Given the description of an element on the screen output the (x, y) to click on. 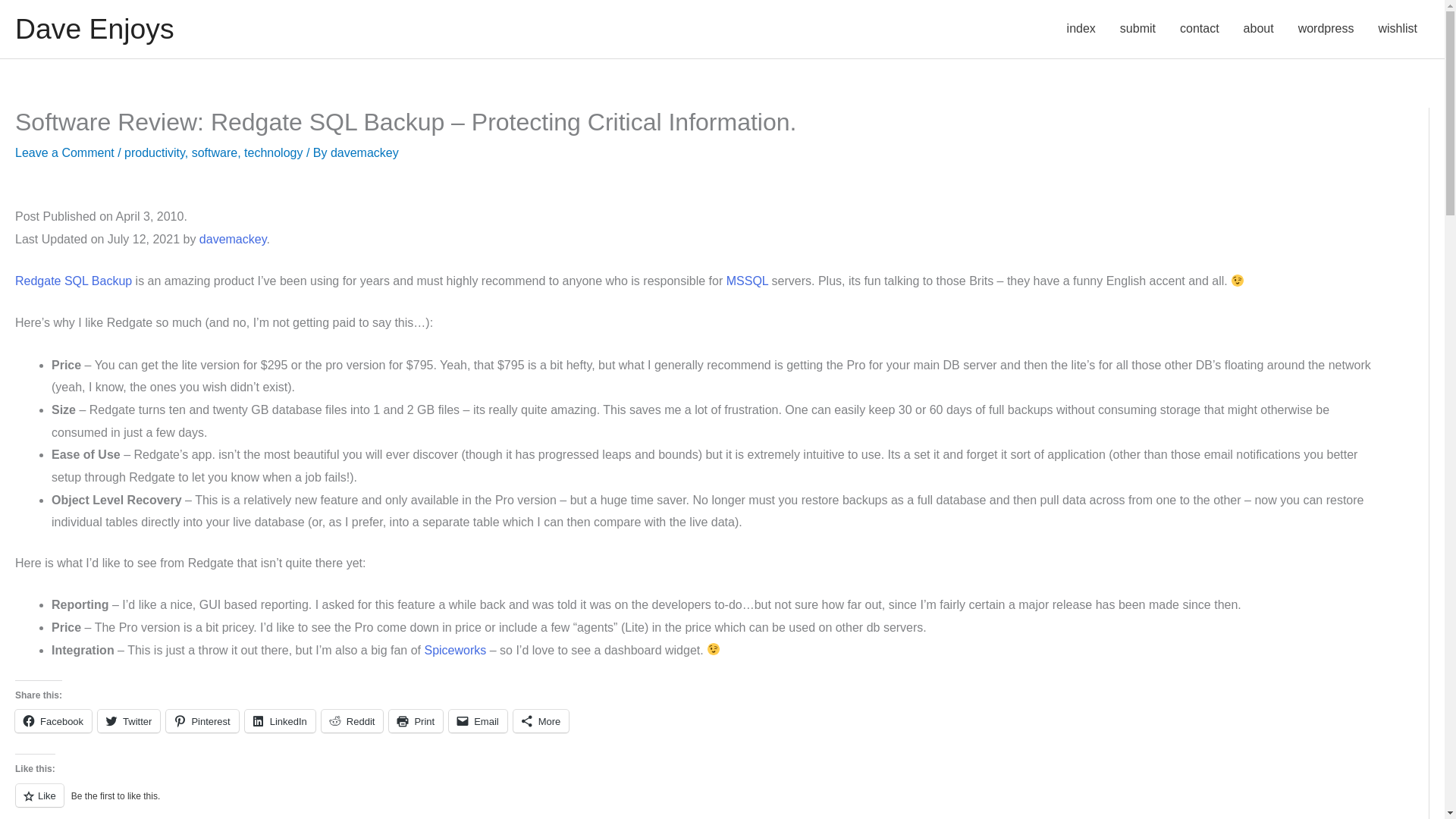
Print (415, 721)
LinkedIn (279, 721)
MSSQL (747, 280)
software (214, 152)
Spiceworks (454, 649)
Reddit (352, 721)
submit (1137, 29)
Click to share on Twitter (128, 721)
contact (1199, 29)
wishlist (1397, 29)
